Given the description of an element on the screen output the (x, y) to click on. 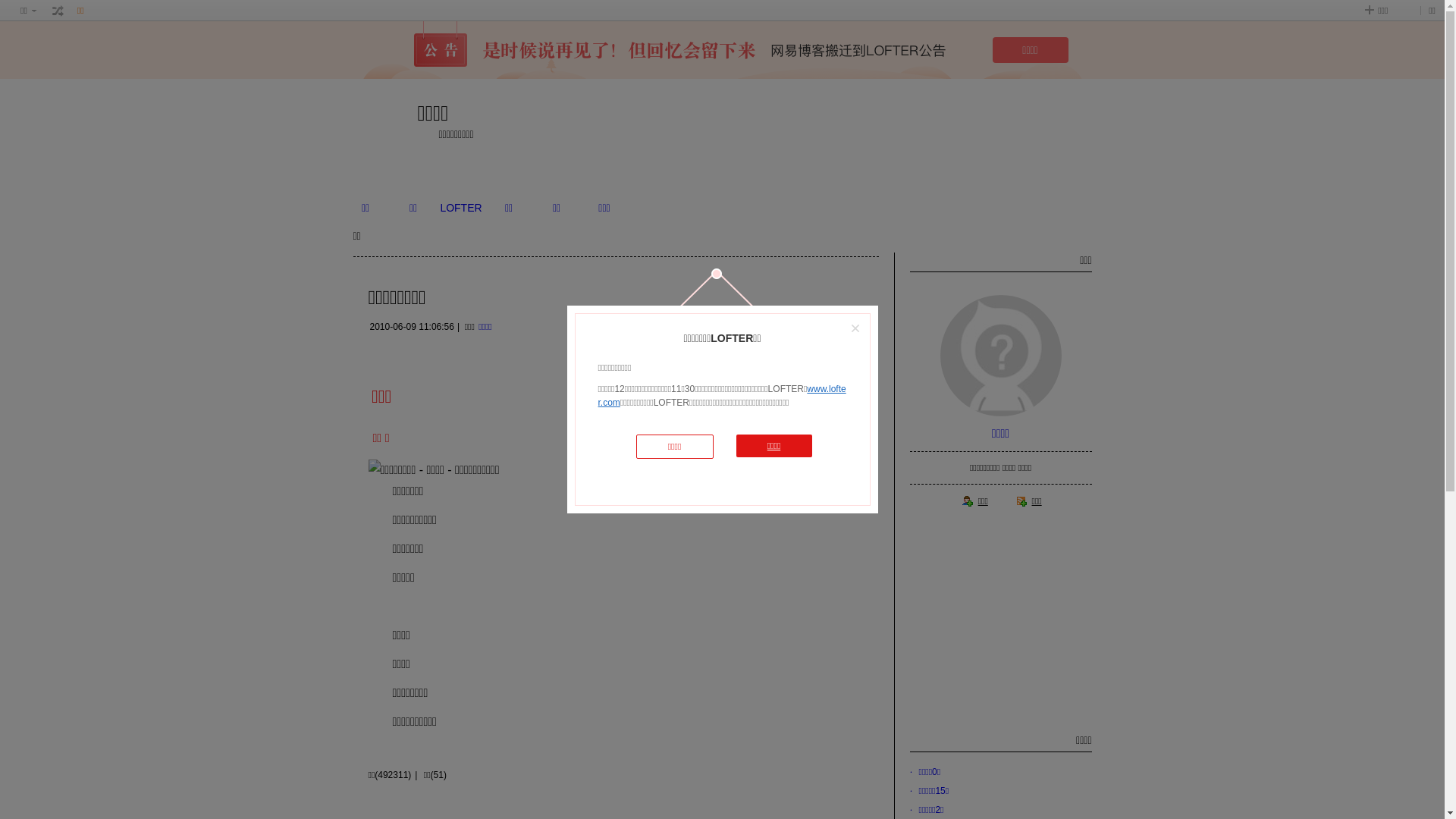
LOFTER Element type: text (460, 207)
www.lofter.com Element type: text (721, 395)
  Element type: text (58, 10)
